Given the description of an element on the screen output the (x, y) to click on. 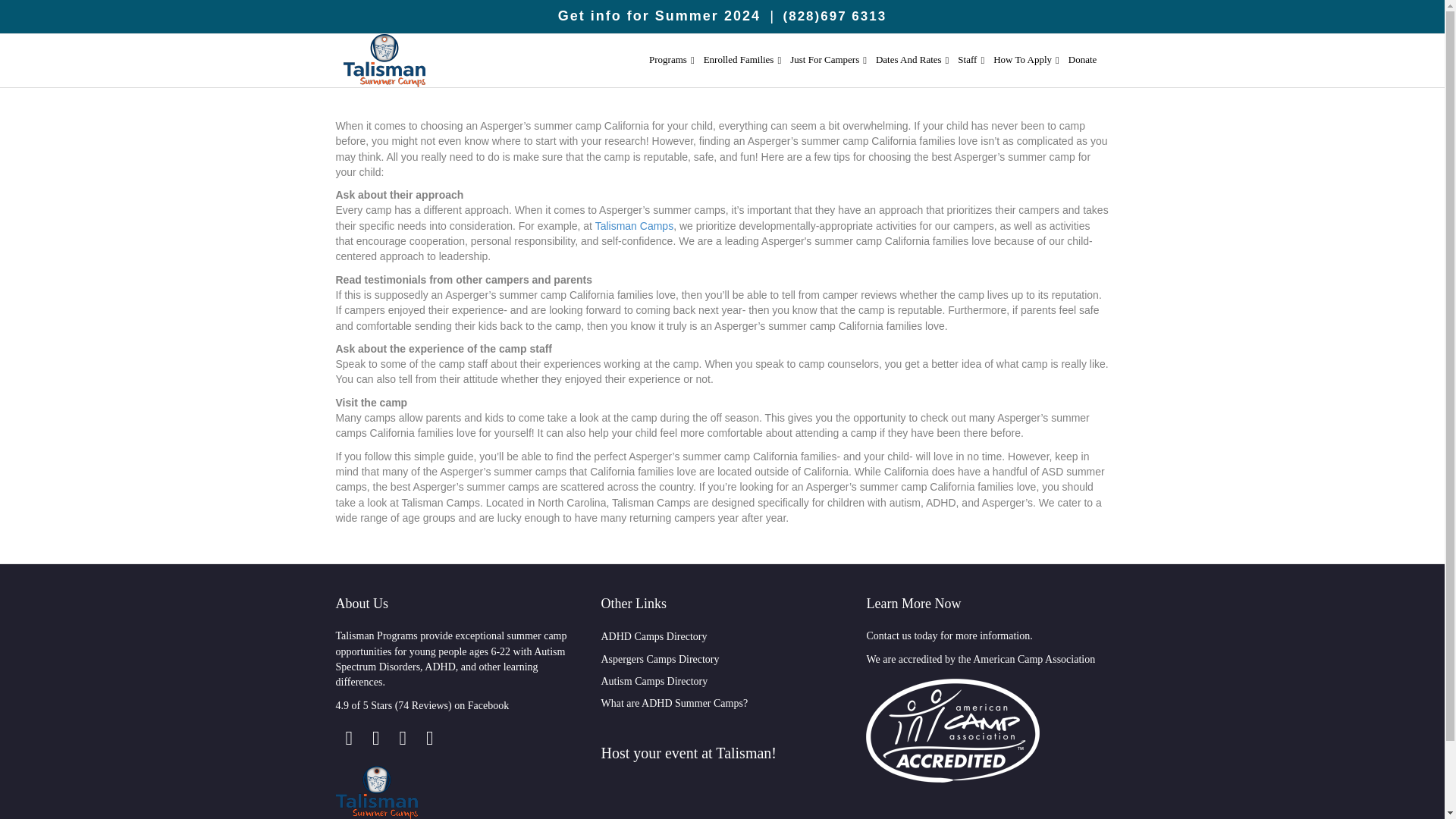
Get info for Summer 2024 (658, 15)
